Given the description of an element on the screen output the (x, y) to click on. 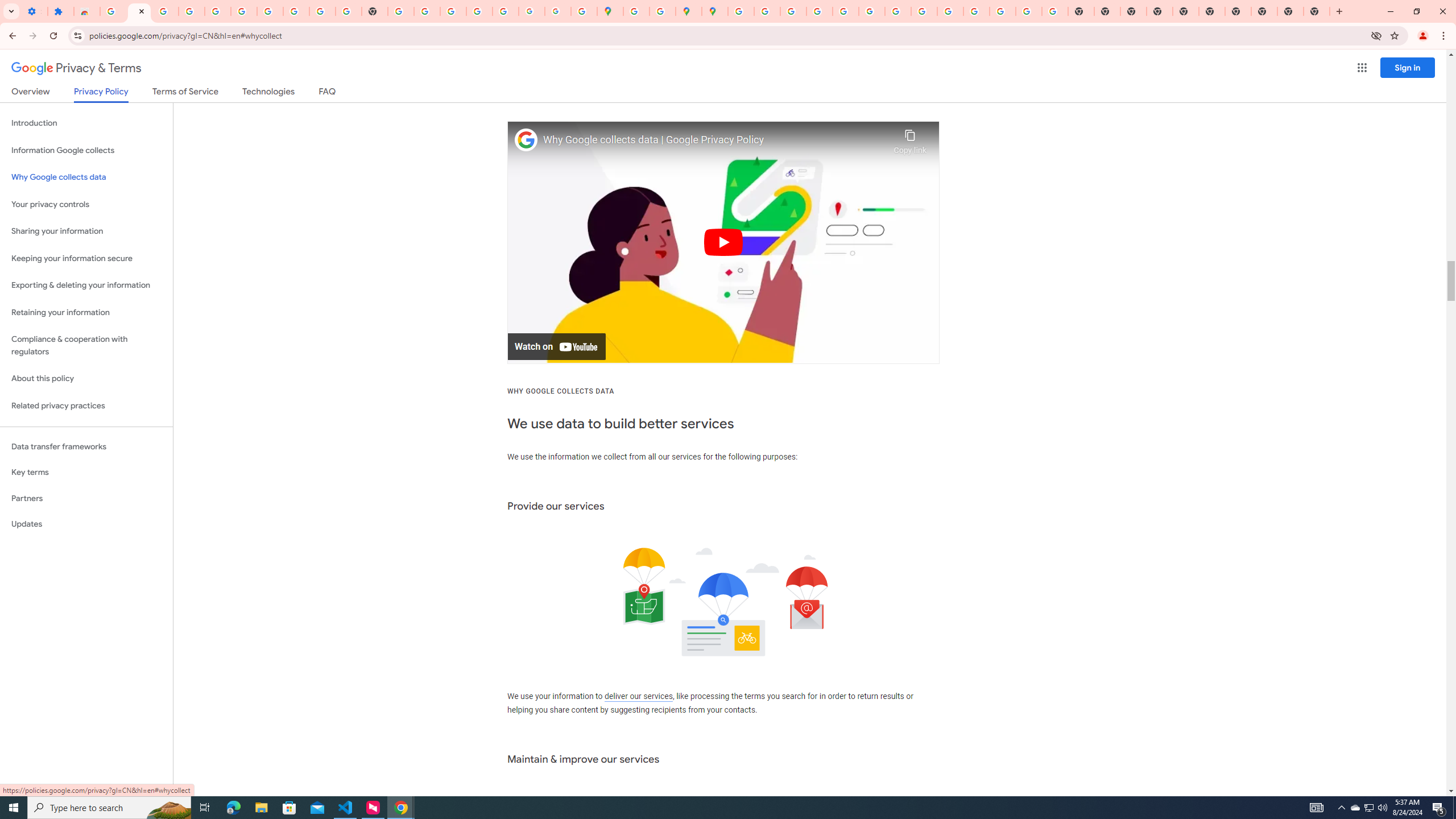
Sharing your information (86, 230)
Google Maps (610, 11)
Information Google collects (86, 150)
Reviews: Helix Fruit Jump Arcade Game (86, 11)
Why Google collects data (86, 176)
Delete photos & videos - Computer - Google Photos Help (165, 11)
Partners (86, 497)
Watch on YouTube (556, 346)
